Given the description of an element on the screen output the (x, y) to click on. 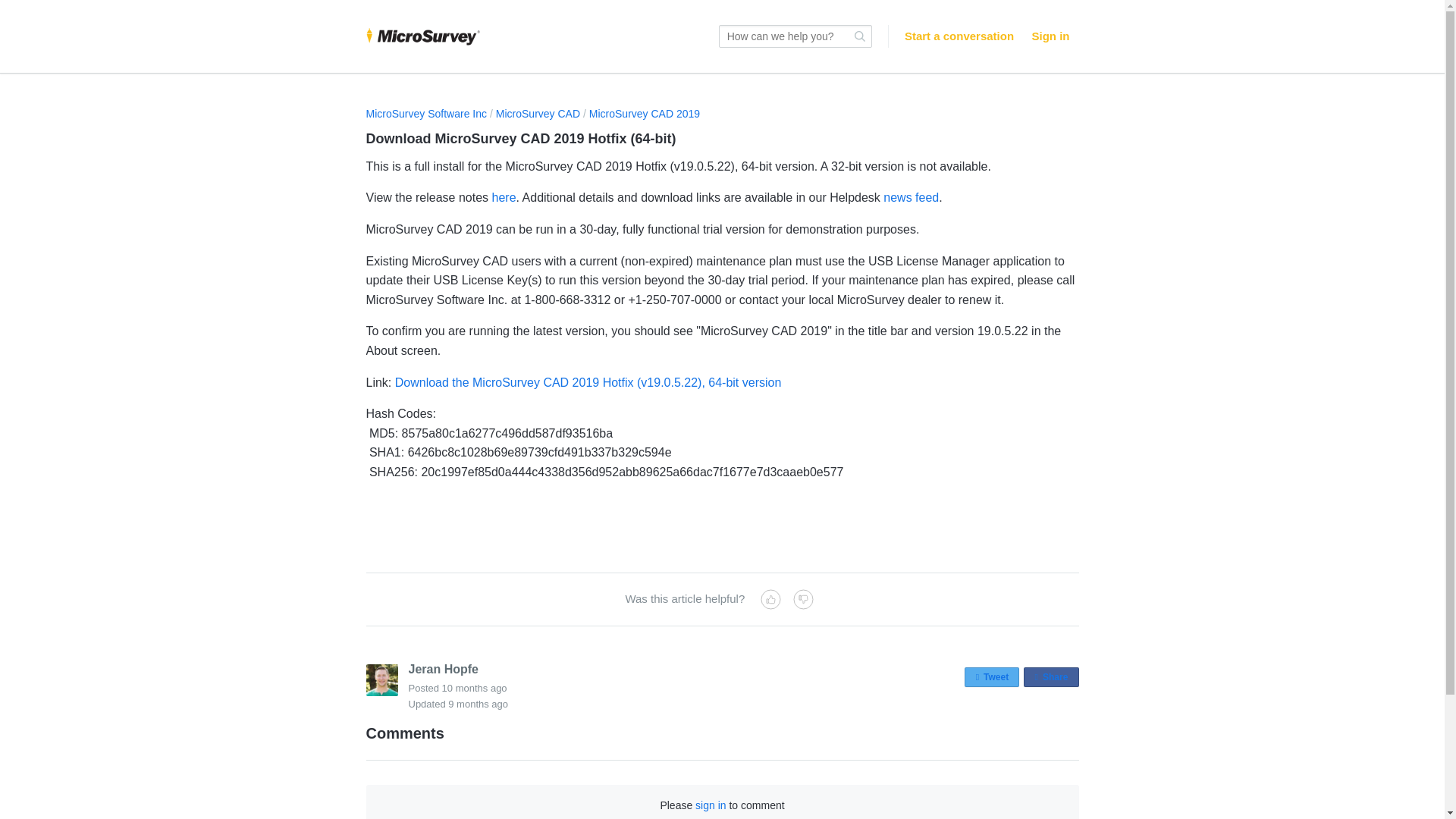
MicroSurvey CAD (537, 113)
November 13th 2023, 2:27 PM (474, 687)
news feed (911, 196)
MicroSurvey Software Inc (425, 113)
MicroSurvey CAD 2019 (1050, 677)
Sign in (644, 113)
here (1049, 35)
December 5th 2023, 8:24 AM (504, 196)
Start a conversation (478, 704)
